Given the description of an element on the screen output the (x, y) to click on. 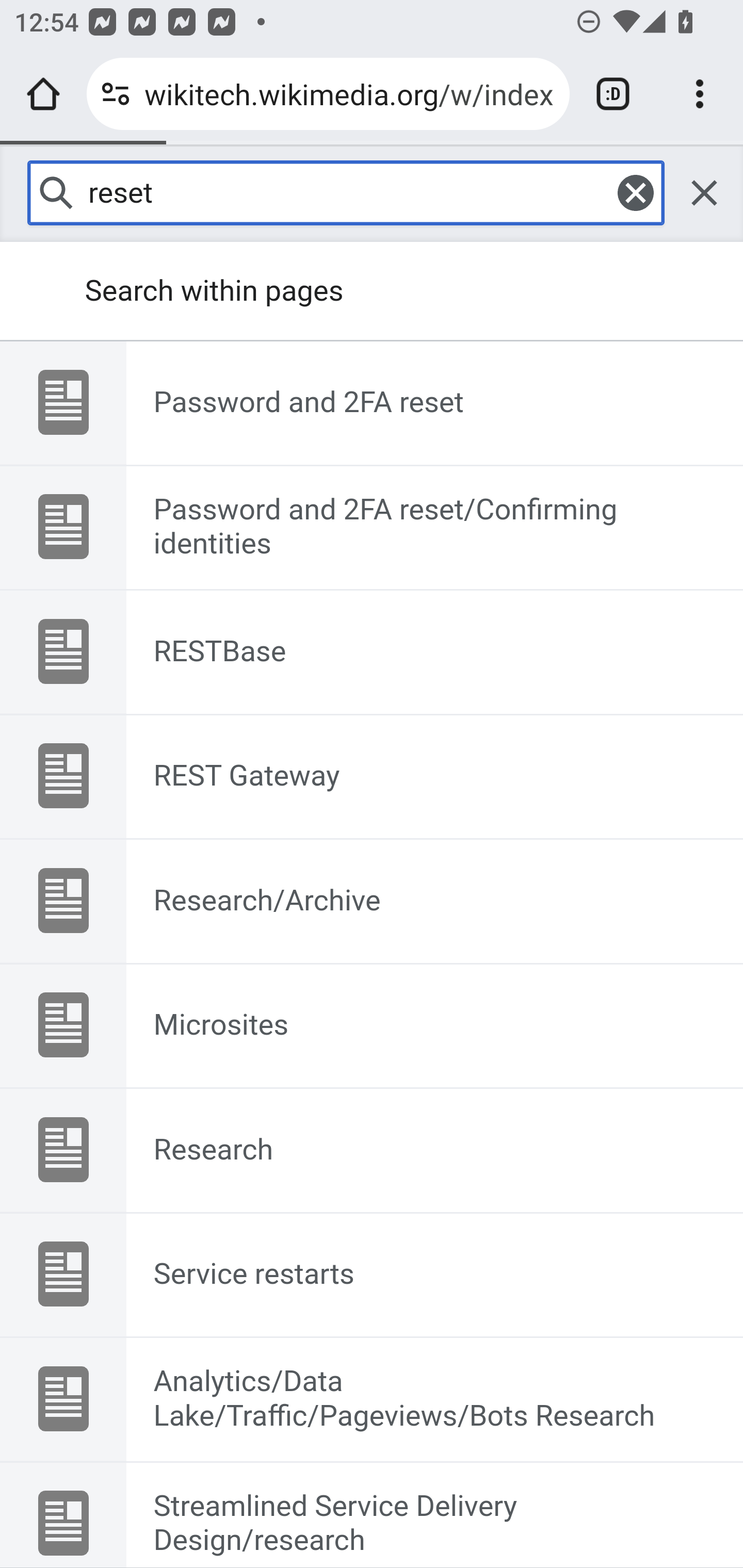
Open the home page (43, 93)
Connection is secure (115, 93)
Switch or close tabs (612, 93)
Customize and control Google Chrome (699, 93)
